Given the description of an element on the screen output the (x, y) to click on. 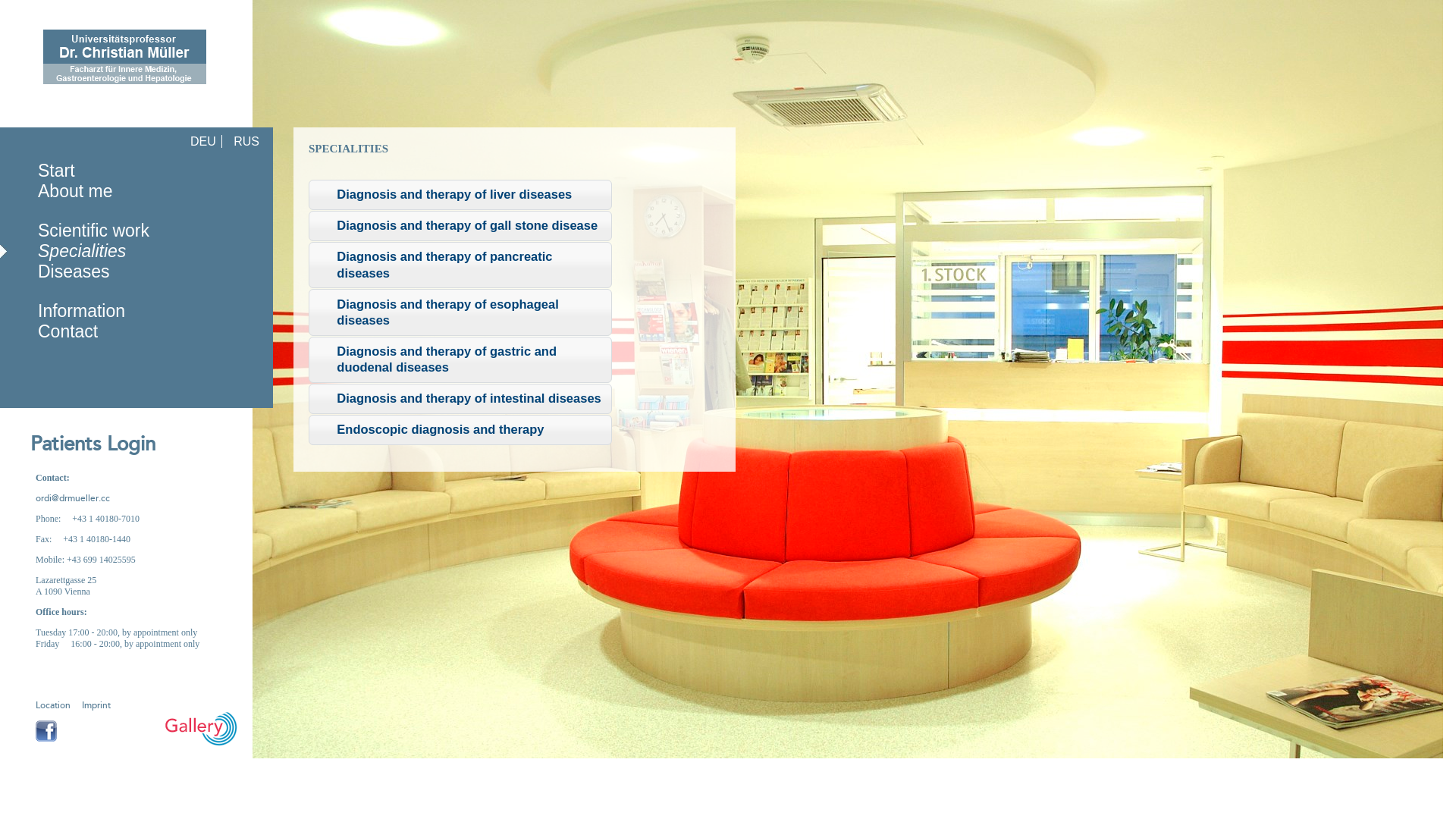
About me Element type: text (74, 190)
Diagnosis and therapy of gastric and duodenal diseases Element type: text (460, 359)
Imprint Element type: text (95, 705)
Patients Login Element type: text (77, 444)
Specialities Element type: text (81, 250)
DEU Element type: text (203, 140)
RUS Element type: text (245, 140)
Contact Element type: text (67, 331)
Scientific work Element type: text (93, 230)
Location Element type: text (52, 705)
Diagnosis and therapy of intestinal diseases Element type: text (460, 398)
Diagnosis and therapy of gall stone disease Element type: text (460, 225)
ordi@drmueller.cc Element type: text (72, 498)
Endoscopic diagnosis and therapy Element type: text (460, 429)
Diseases Element type: text (73, 271)
Diagnosis and therapy of esophageal diseases Element type: text (460, 311)
Diagnosis and therapy of pancreatic diseases Element type: text (460, 264)
Diagnosis and therapy of liver diseases Element type: text (460, 194)
Information Element type: text (81, 310)
Start Element type: text (56, 170)
